Given the description of an element on the screen output the (x, y) to click on. 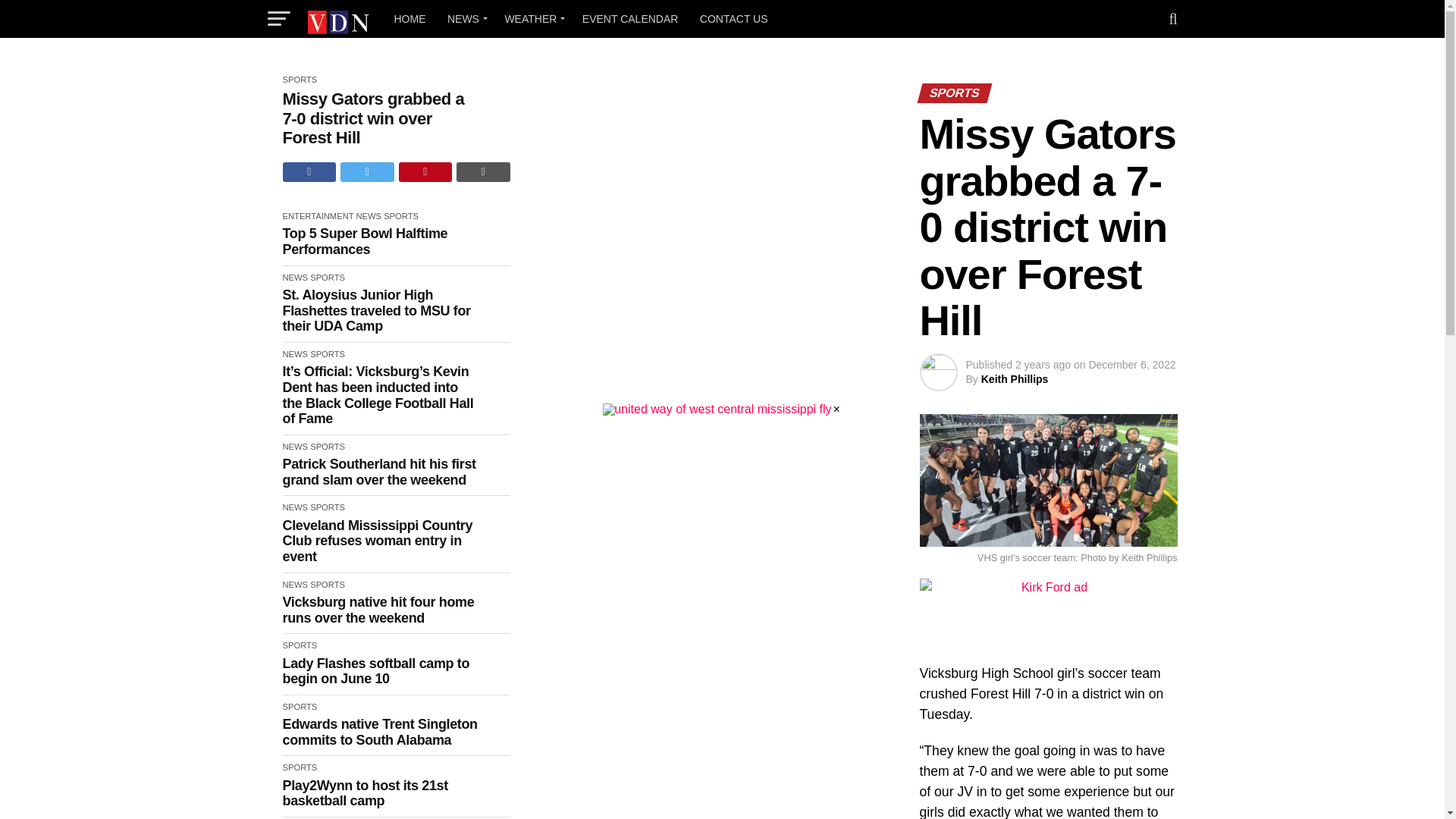
NEWS (465, 18)
SPORTS (299, 79)
WEATHER (532, 18)
Share on Facebook (309, 171)
Pin This Post (425, 171)
Missy Gators grabbed a 7-0 district win over Forest Hill (380, 118)
CONTACT US (733, 18)
EVENT CALENDAR (630, 18)
HOME (410, 18)
Tweet This Post (367, 171)
